Given the description of an element on the screen output the (x, y) to click on. 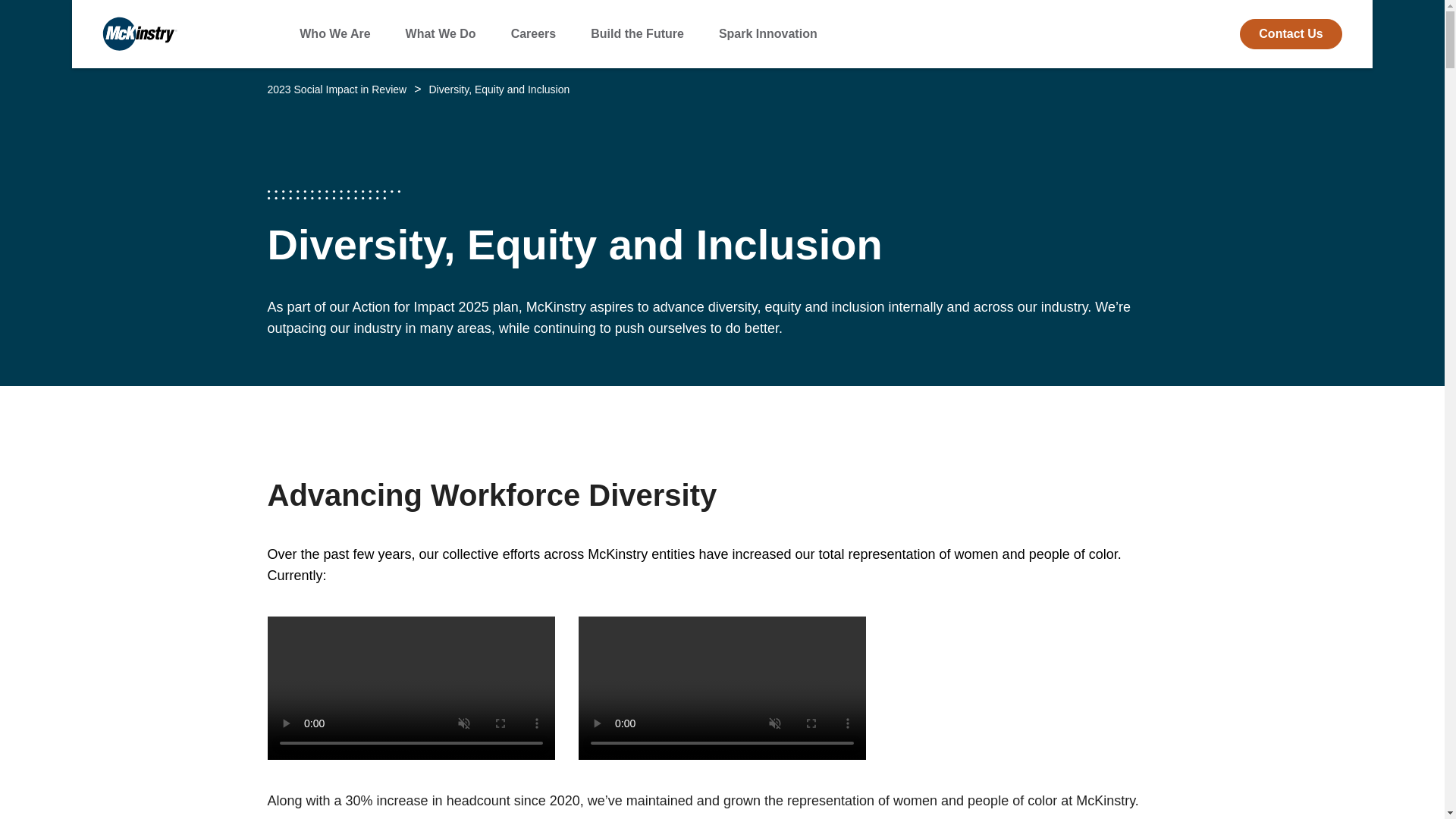
2023 Social Impact in Review (336, 89)
Careers (533, 33)
Contact Us (1290, 33)
Spark Innovation (767, 33)
Who We Are (334, 33)
Build the Future (637, 33)
2023 Social Impact in Review (336, 89)
Contact Us (1290, 33)
What We Do (441, 33)
